Given the description of an element on the screen output the (x, y) to click on. 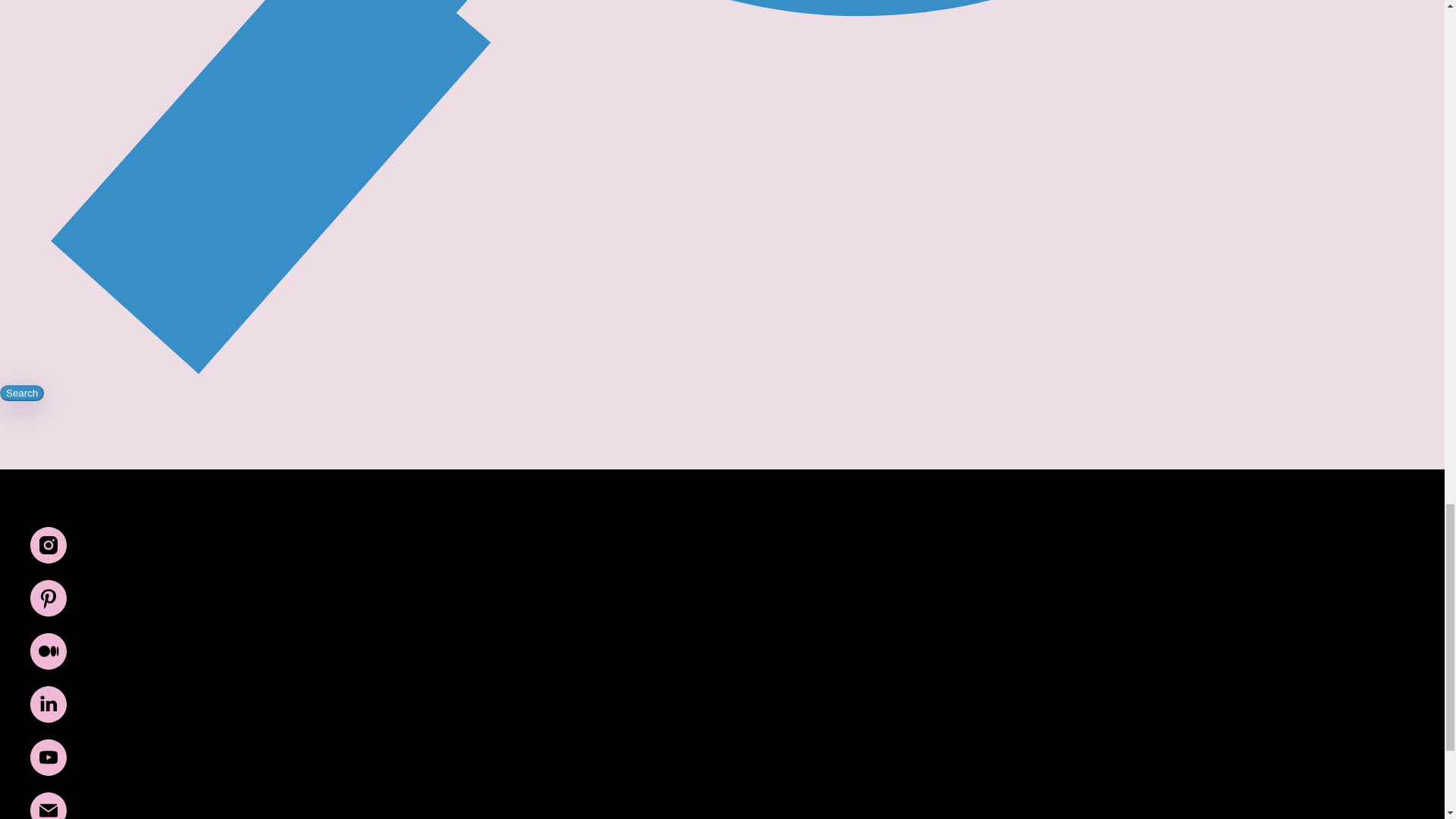
YouTube (48, 771)
Medium (48, 665)
Instagram (48, 558)
Search (21, 392)
LinkedIN (48, 717)
Pinterest (48, 612)
